Given the description of an element on the screen output the (x, y) to click on. 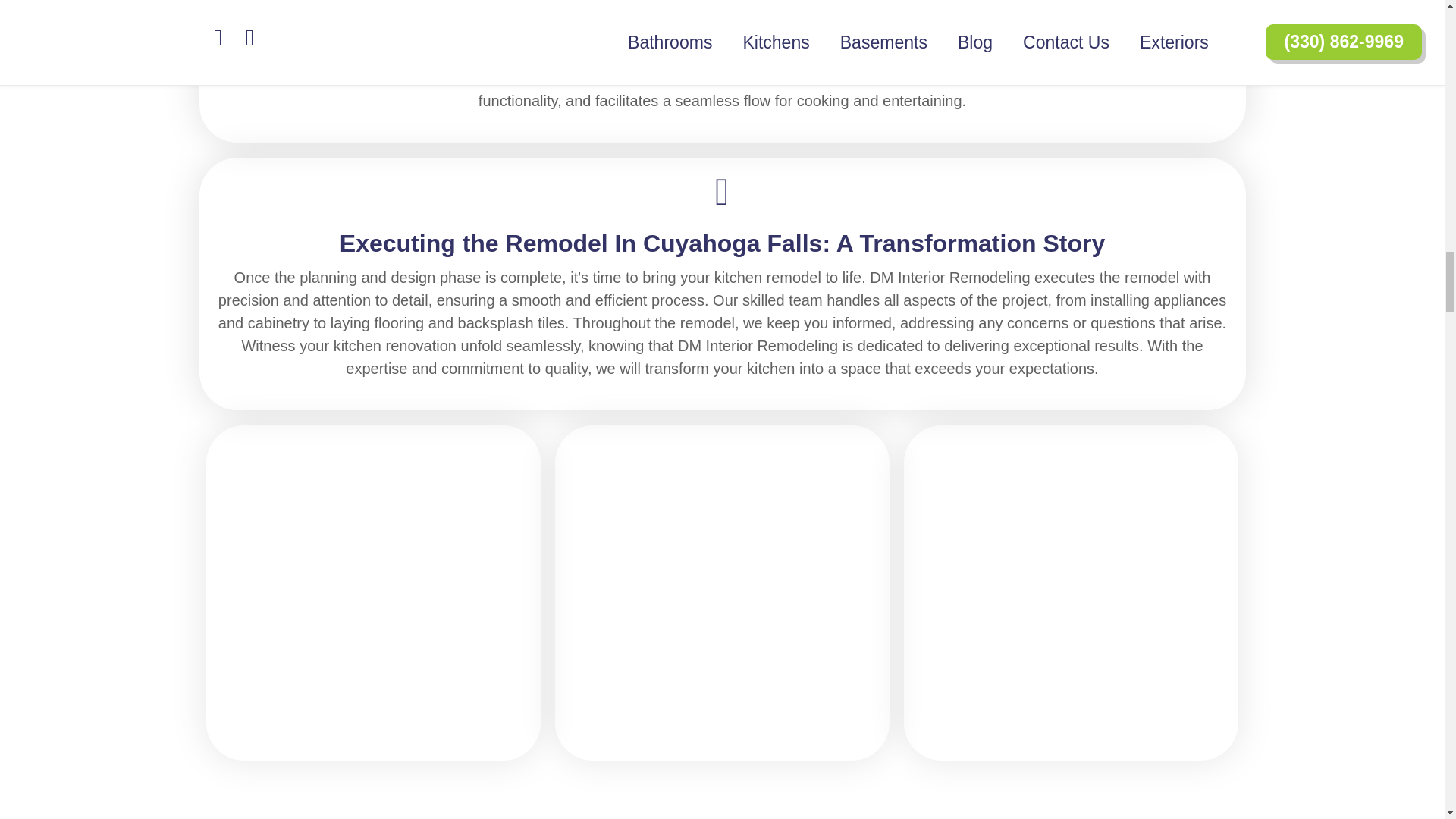
Cuyahoga Falls, OH Kitchen Remodeling 8 (373, 591)
Cuyahoga Falls, OH Kitchen Remodeling 9 (721, 591)
Cuyahoga Falls, OH Kitchen Remodeling 10 (1071, 591)
